Given the description of an element on the screen output the (x, y) to click on. 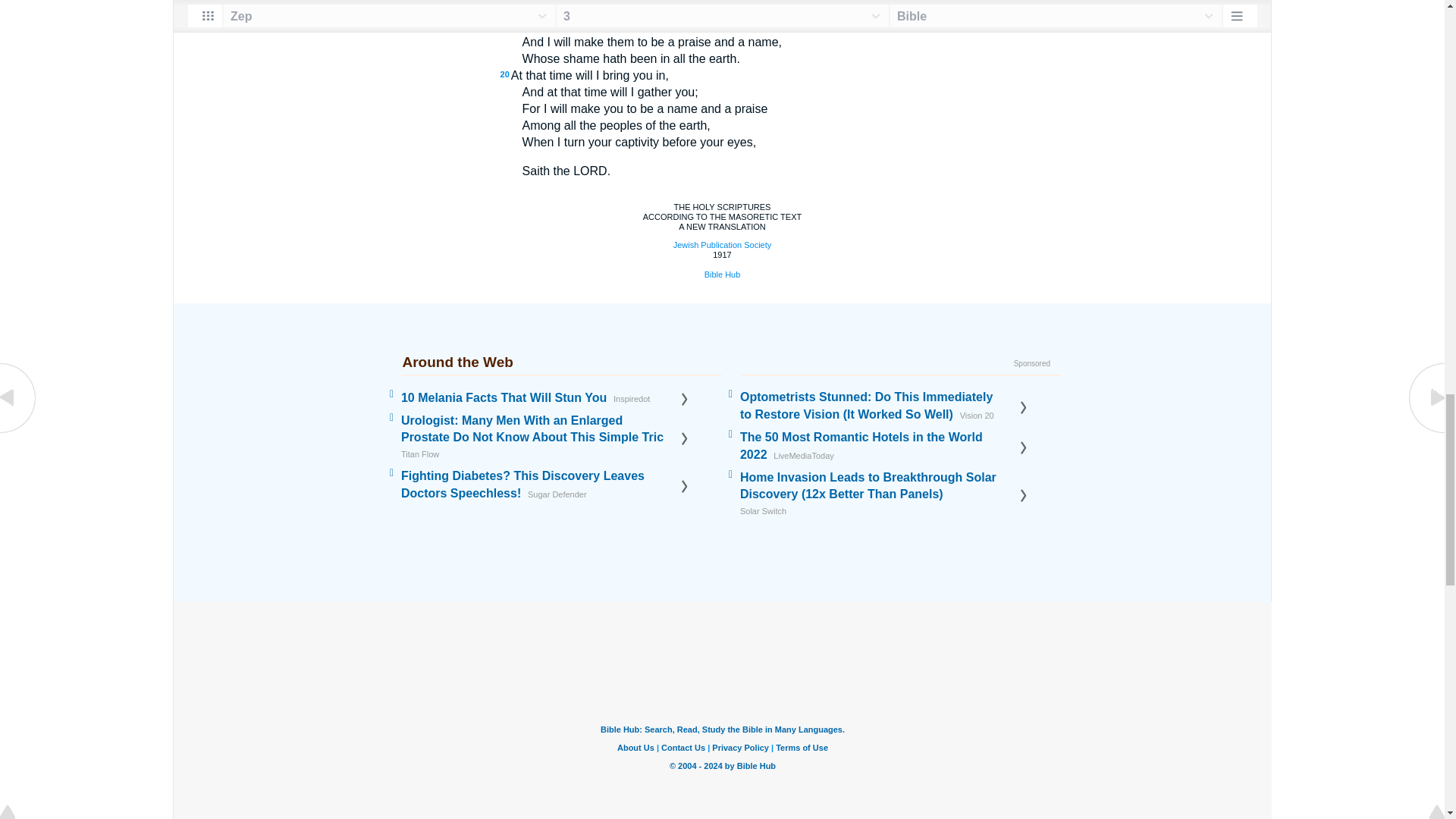
Bible Hub (722, 274)
The 50 Most Romantic Hotels in the World 2022 (879, 454)
Jewish Publication Society (721, 244)
10 Melania Facts That Will Stun You (539, 397)
10 Melania Facts That Will Stun You Inspiredot (539, 397)
Fighting Diabetes? This Discovery Leaves Doctors Speechless! (539, 493)
The 50 Most Romantic Hotels in the World 2022 LiveMediaToday (879, 454)
20 (504, 73)
